Given the description of an element on the screen output the (x, y) to click on. 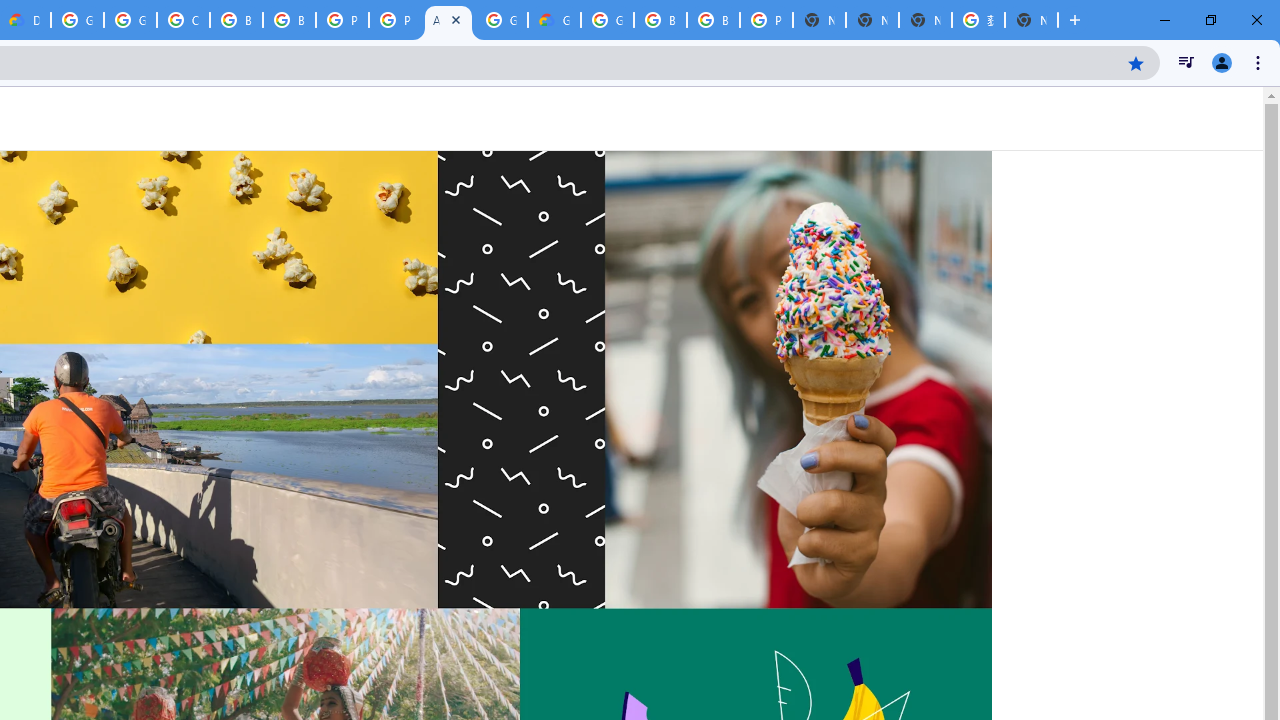
Google Cloud Platform (607, 20)
